Given the description of an element on the screen output the (x, y) to click on. 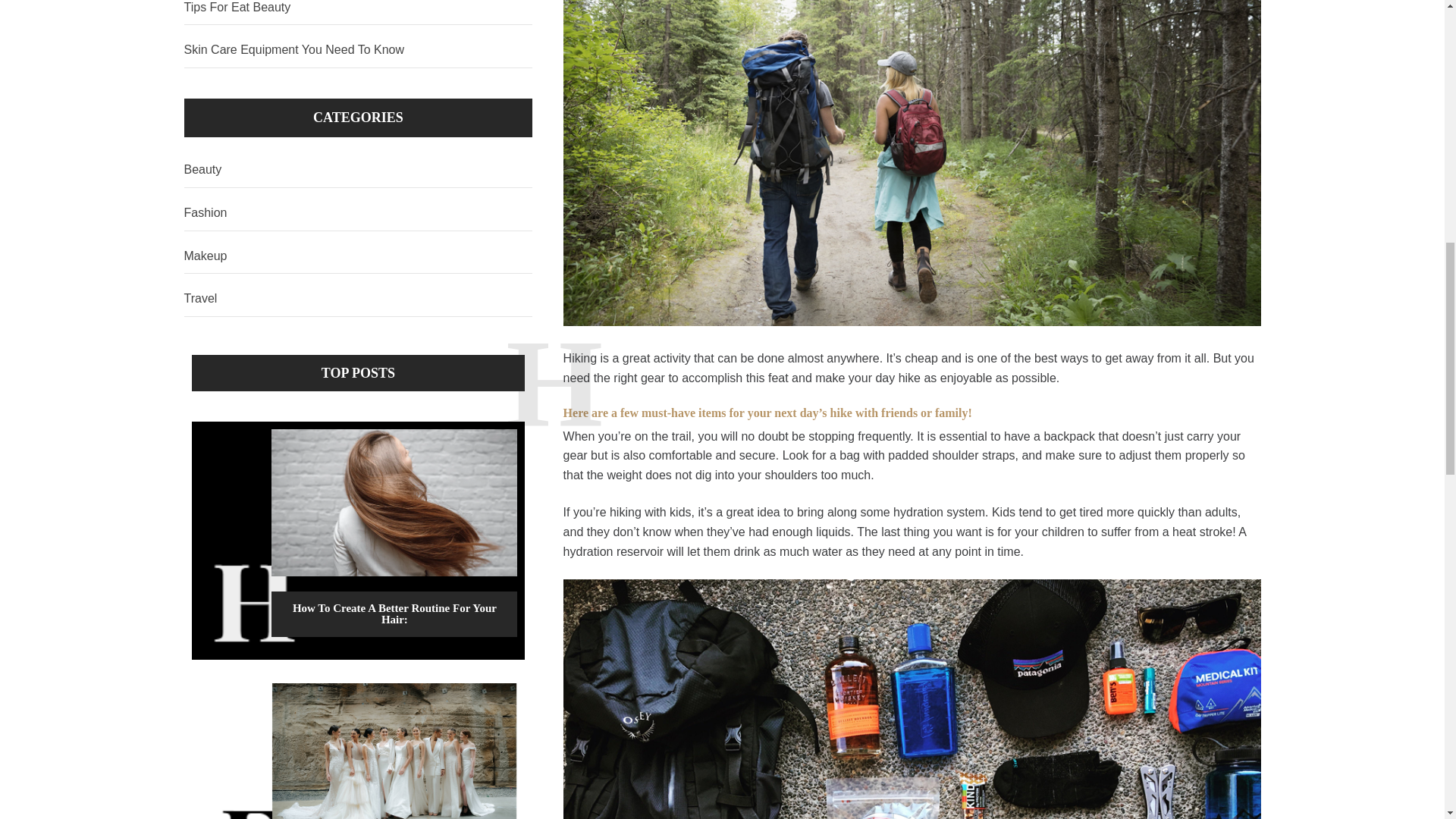
Makeup (357, 256)
Fashion (357, 212)
Beauty (357, 170)
Skin Care Equipment You Need To Know (357, 49)
Travel (357, 298)
How To Create A Better Routine For Your Hair: (394, 613)
Tips For Eat Beauty (357, 12)
